Given the description of an element on the screen output the (x, y) to click on. 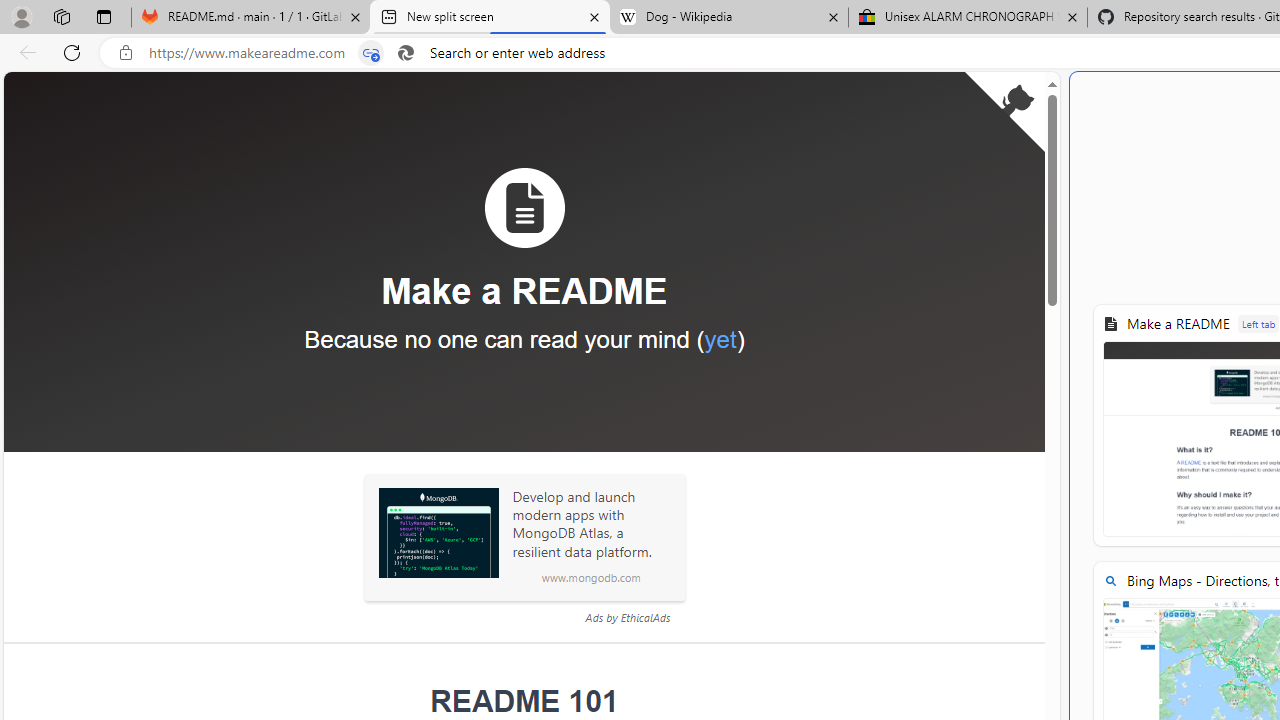
yet (720, 339)
Dog - Wikipedia (729, 17)
Sponsored: MongoDB (438, 533)
Anchor (417, 701)
Tabs in split screen (371, 53)
New split screen (490, 17)
Sponsored: MongoDB (438, 533)
Open GitHub project (1004, 111)
Search icon (406, 53)
